Given the description of an element on the screen output the (x, y) to click on. 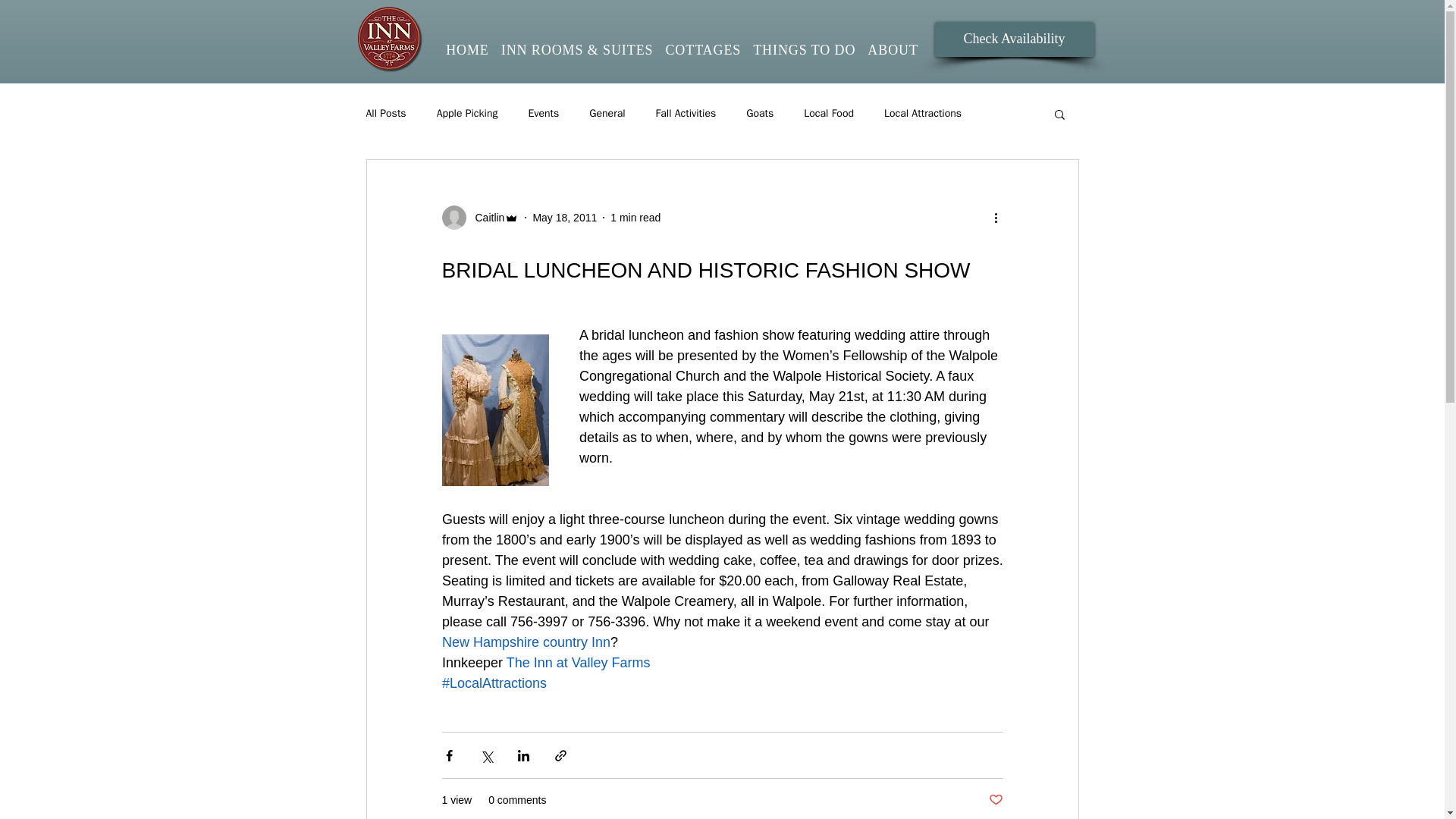
Apple Picking (466, 113)
Local Attractions (921, 113)
Fall Activities (686, 113)
Goats (759, 113)
Check Availability (1013, 39)
General (606, 113)
Local Food (828, 113)
THINGS TO DO (804, 50)
1 min read (635, 216)
All Posts (385, 113)
ABOUT (892, 50)
Caitlin (484, 217)
Events (543, 113)
COTTAGES (703, 50)
May 18, 2011 (564, 216)
